Given the description of an element on the screen output the (x, y) to click on. 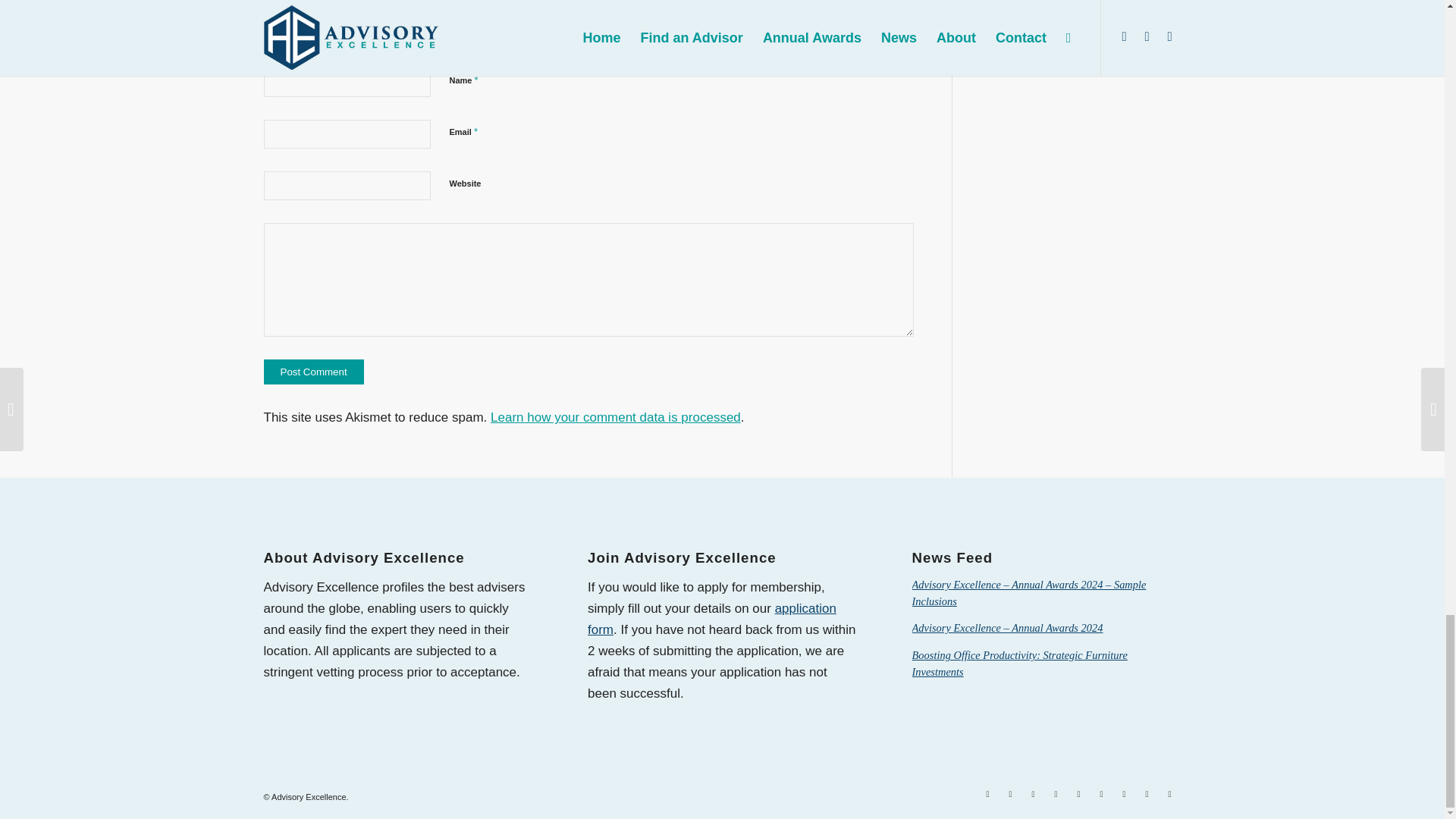
Post Comment (313, 371)
